Given the description of an element on the screen output the (x, y) to click on. 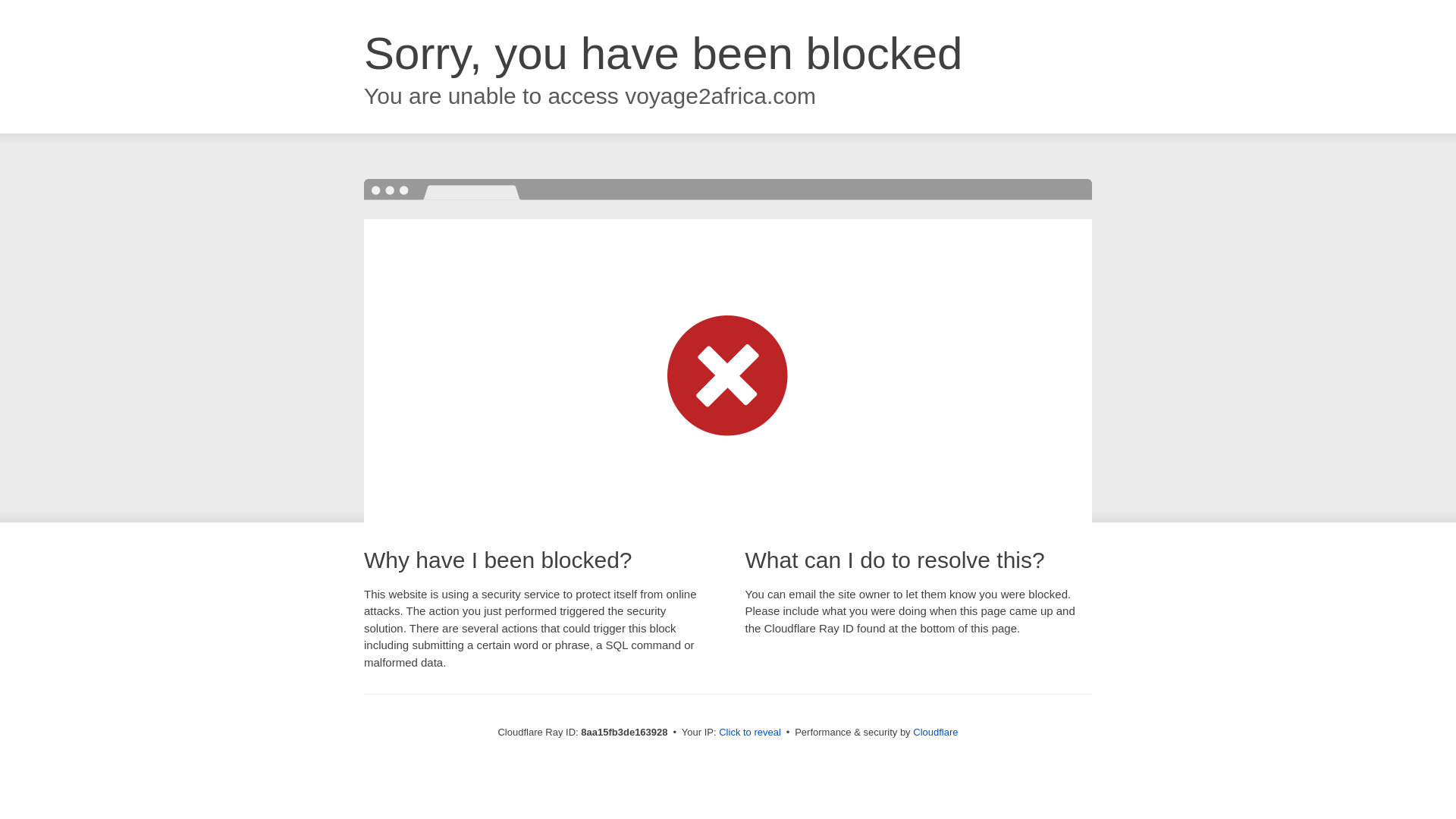
Cloudflare (935, 731)
Click to reveal (749, 732)
